Given the description of an element on the screen output the (x, y) to click on. 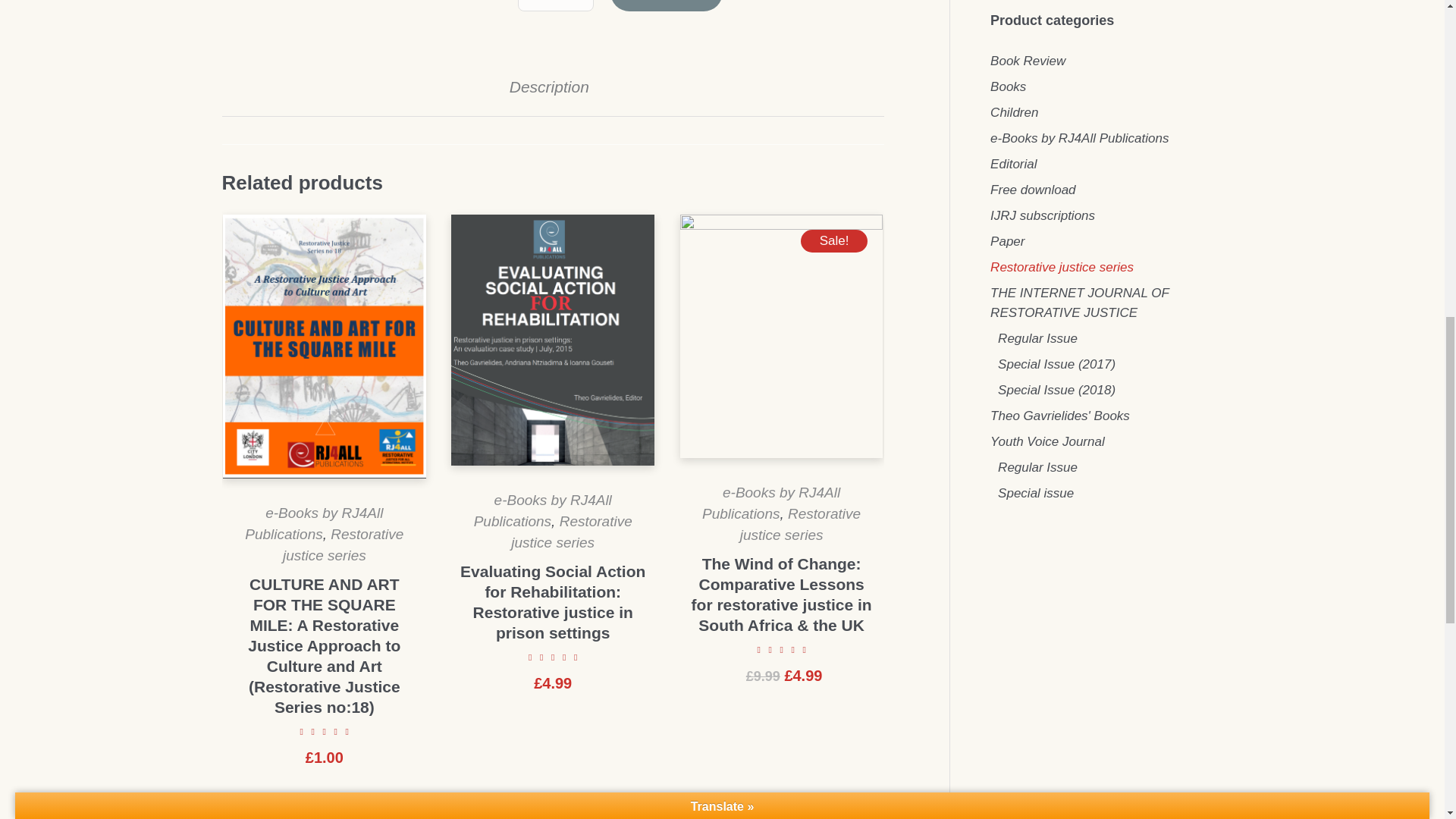
Rated 5.00 out of 5 (781, 649)
Rated 0 out of 5 (552, 655)
Rated 0 out of 5 (324, 731)
1 (556, 5)
